Given the description of an element on the screen output the (x, y) to click on. 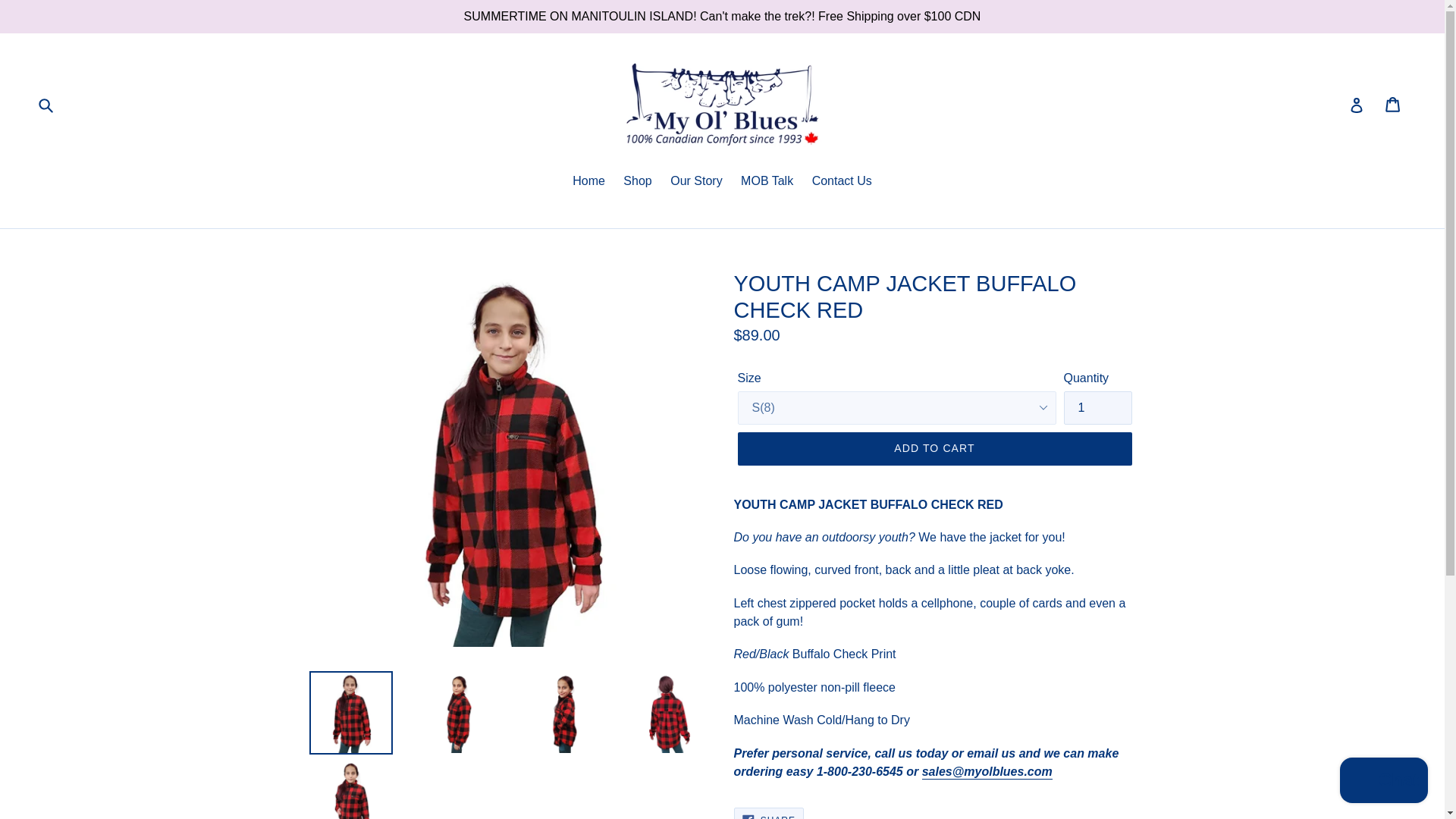
Cart (1393, 104)
Contact Us (842, 181)
Our Story (695, 181)
MOB Talk (766, 181)
Submit (46, 104)
Home (588, 181)
Shopify online store chat (1383, 781)
ADD TO CART (768, 813)
Shop (933, 449)
